Given the description of an element on the screen output the (x, y) to click on. 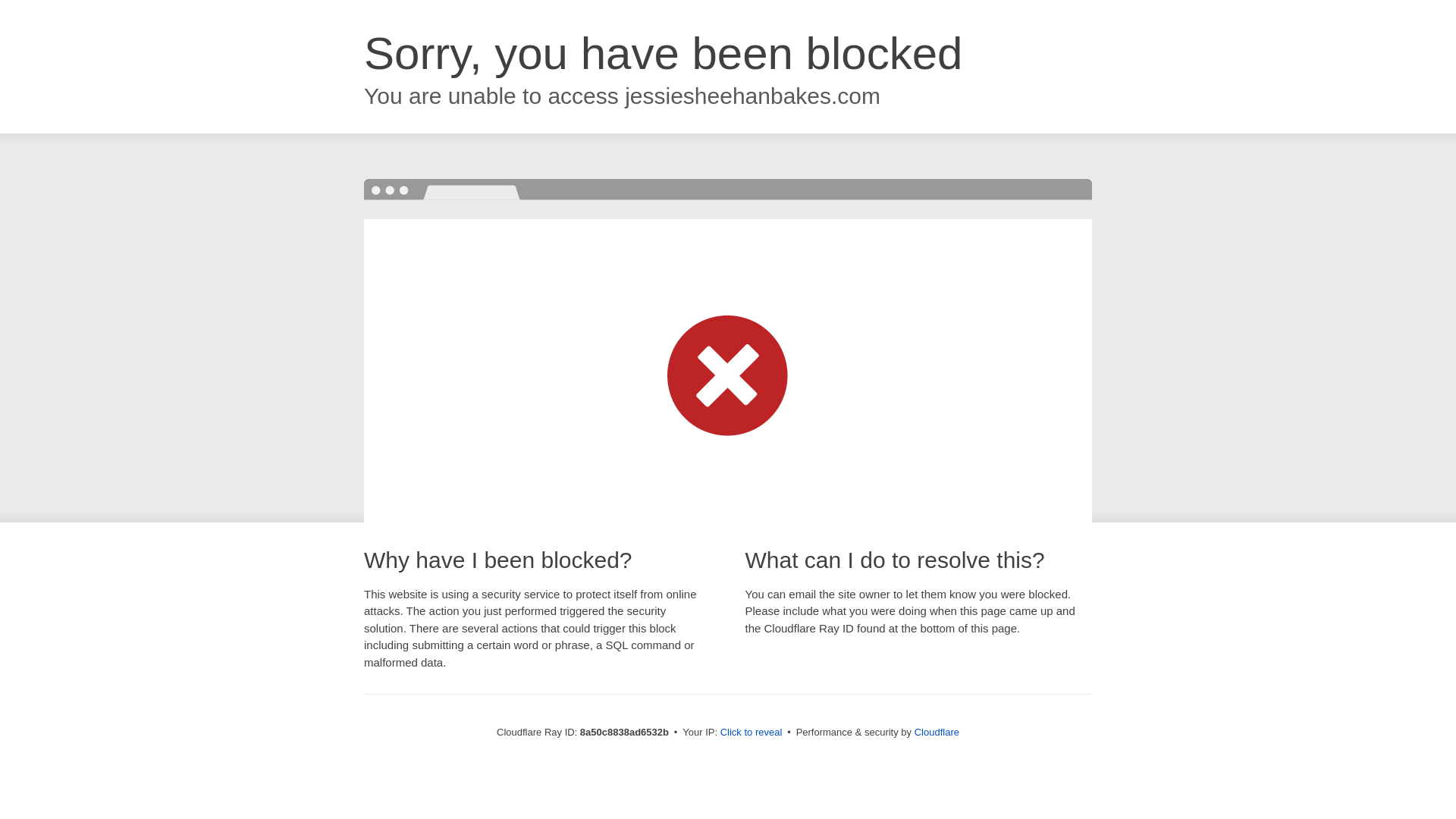
Cloudflare (936, 731)
Click to reveal (751, 732)
